Given the description of an element on the screen output the (x, y) to click on. 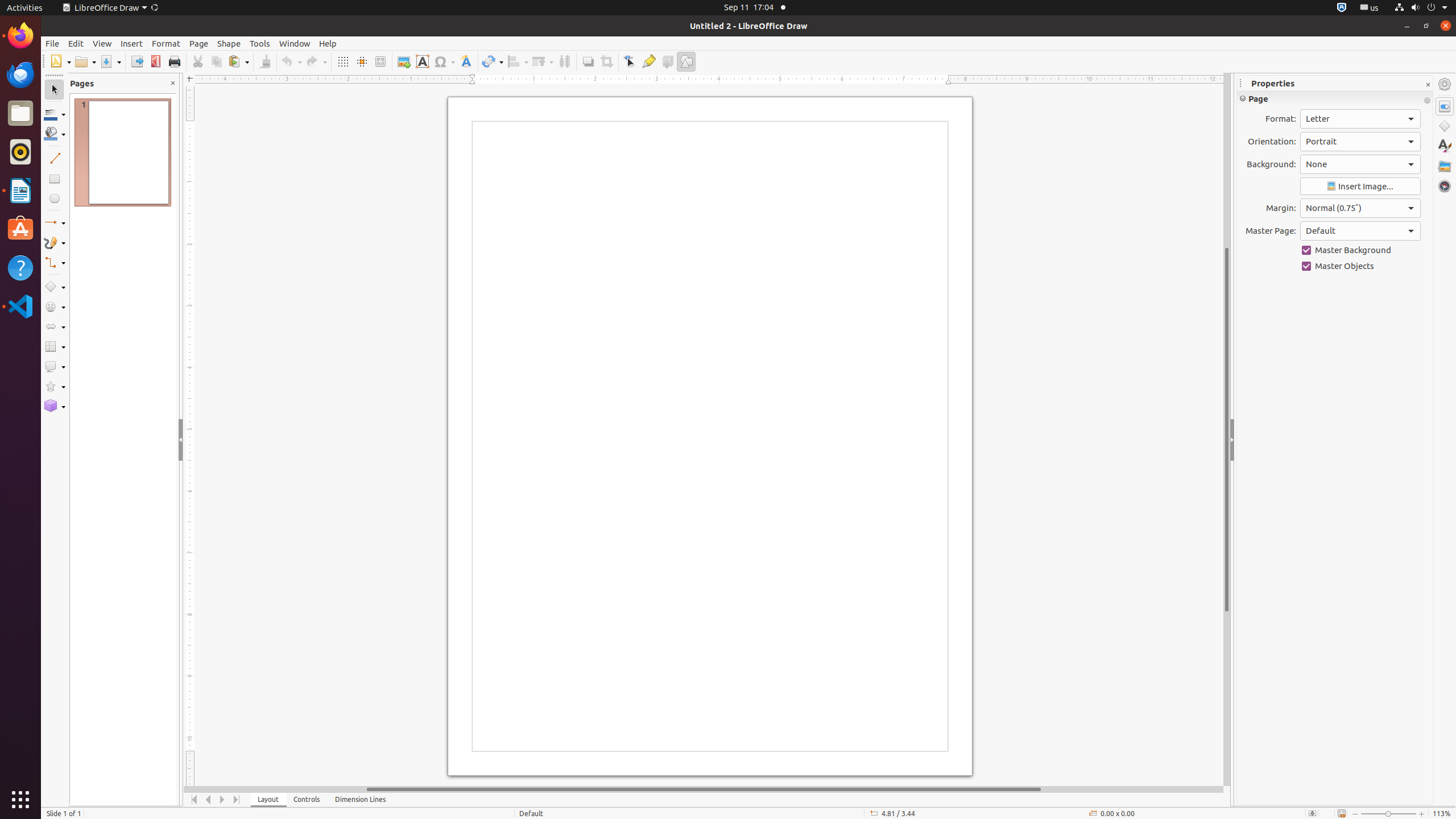
Margin: Element type: combo-box (1360, 207)
Save Element type: push-button (109, 61)
LibreOffice Draw Element type: menu (109, 7)
